Given the description of an element on the screen output the (x, y) to click on. 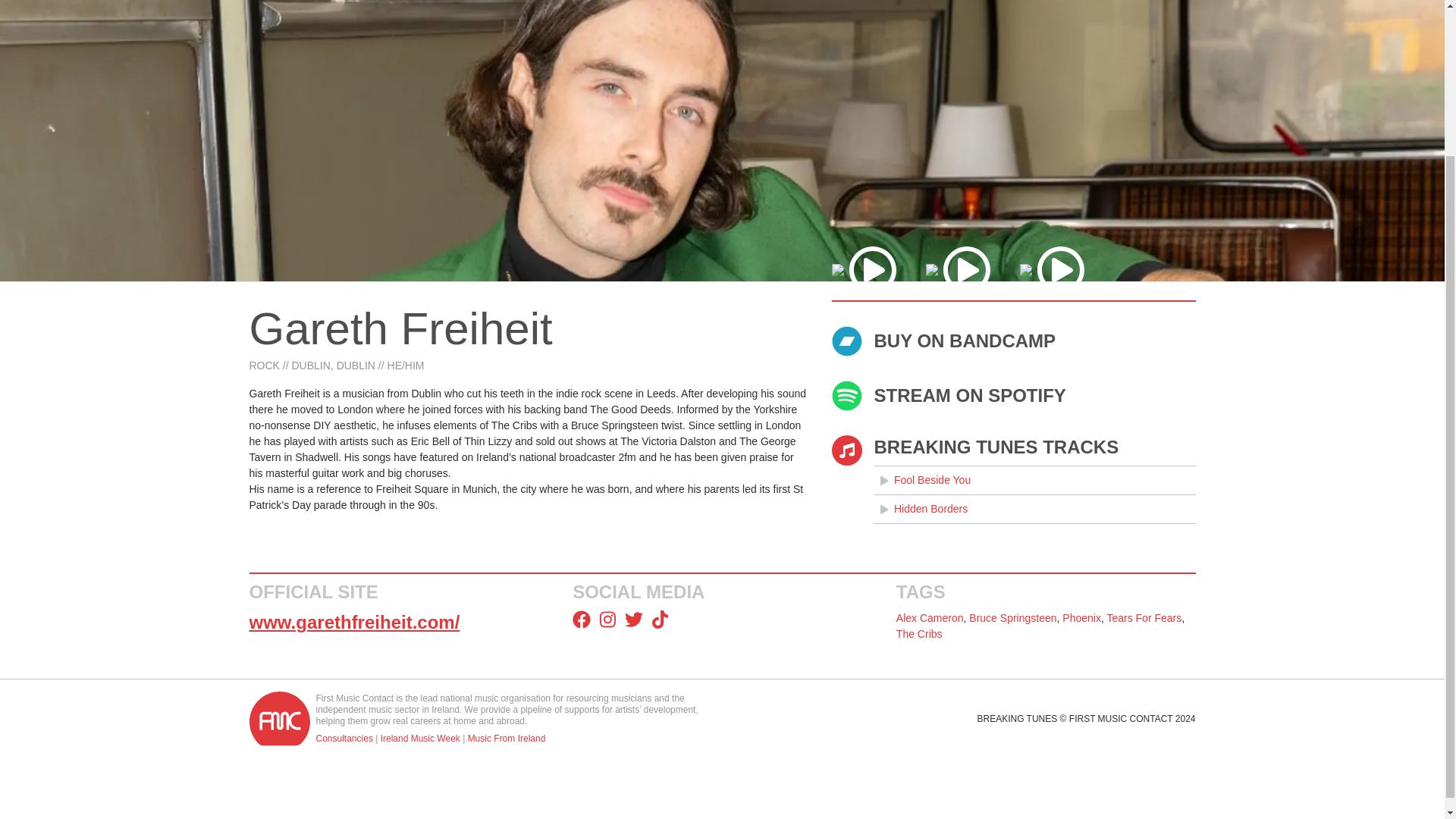
The Cribs (919, 633)
Bruce Springsteen (1013, 617)
STREAM ON SPOTIFY (1013, 395)
BUY ON BANDCAMP (1013, 340)
Fool Beside You (1034, 480)
Phoenix (1081, 617)
Alex Cameron (929, 617)
Tears For Fears (1143, 617)
Hidden Borders (1034, 509)
